Given the description of an element on the screen output the (x, y) to click on. 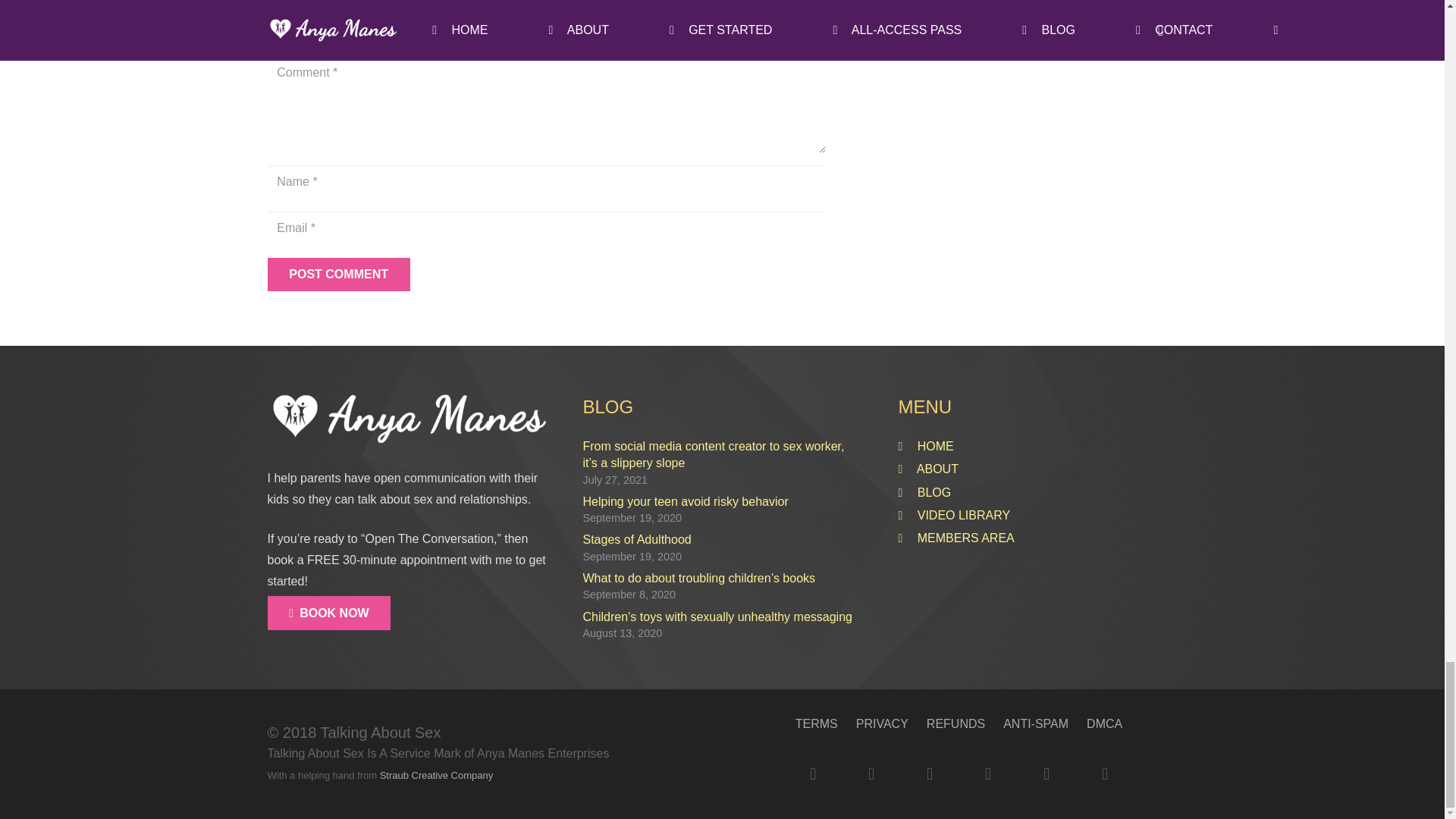
Yelp (1104, 773)
POST COMMENT (337, 274)
Vimeo (988, 773)
Facebook (812, 773)
Google (929, 773)
Pinterest (1046, 773)
Twitter (871, 773)
